Given the description of an element on the screen output the (x, y) to click on. 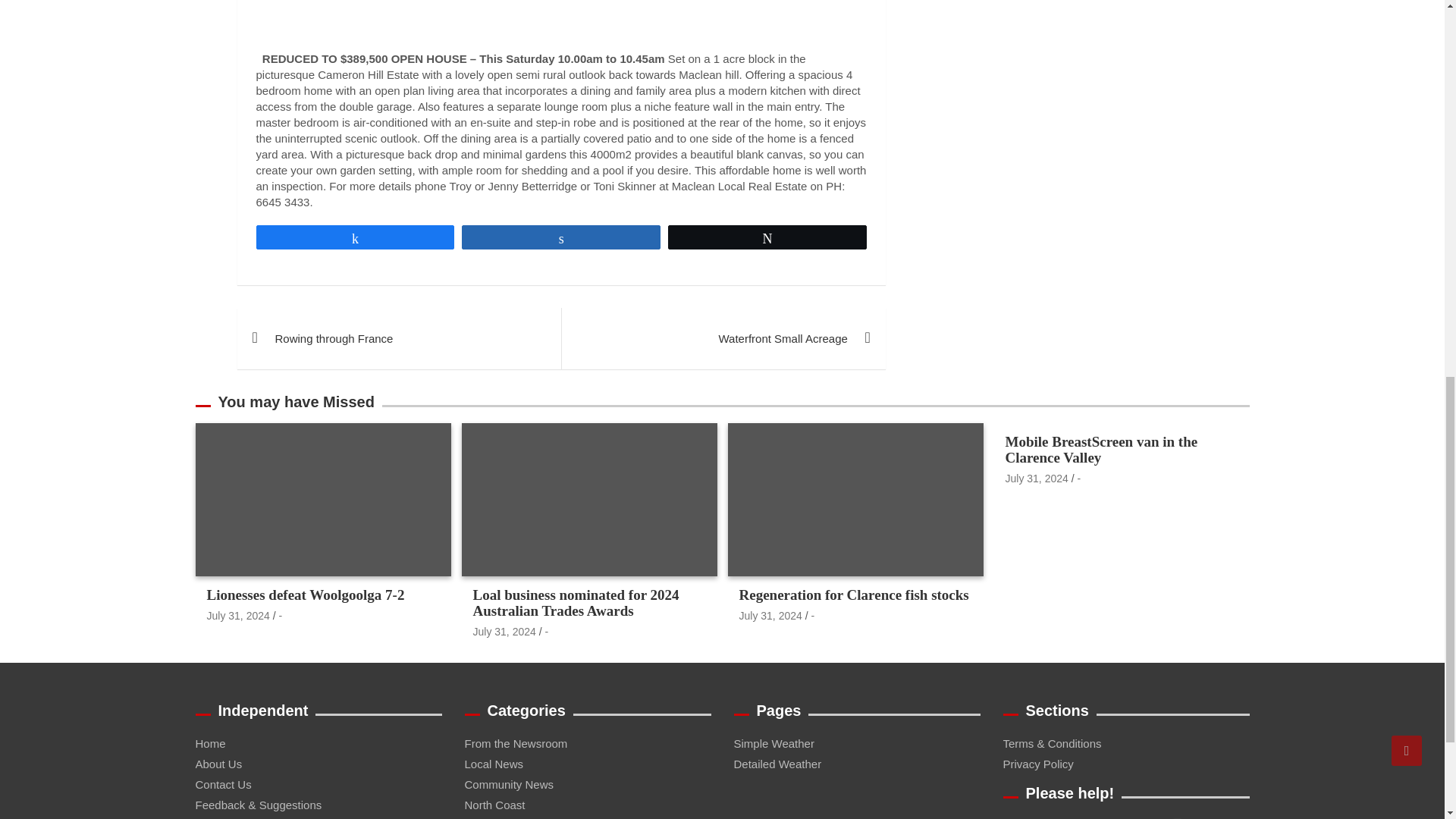
Lionesses defeat Woolgoolga 7-2 (237, 615)
Regeneration for Clarence fish stocks (770, 615)
Loal business nominated for 2024 Australian Trades Awards (504, 631)
Mobile BreastScreen van in the Clarence Valley (1037, 478)
